Given the description of an element on the screen output the (x, y) to click on. 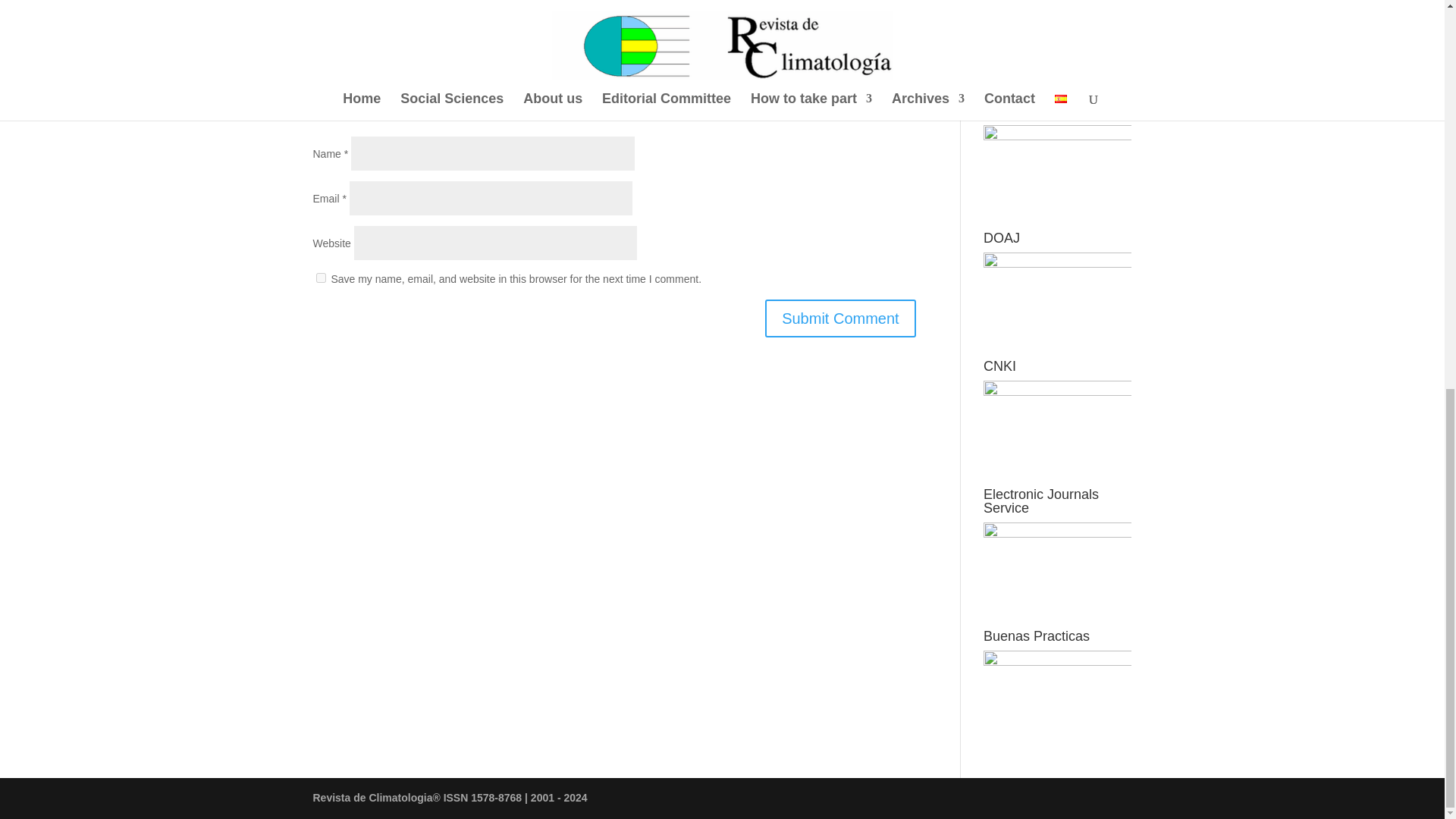
Submit Comment (840, 318)
yes (319, 277)
Submit Comment (840, 318)
